Given the description of an element on the screen output the (x, y) to click on. 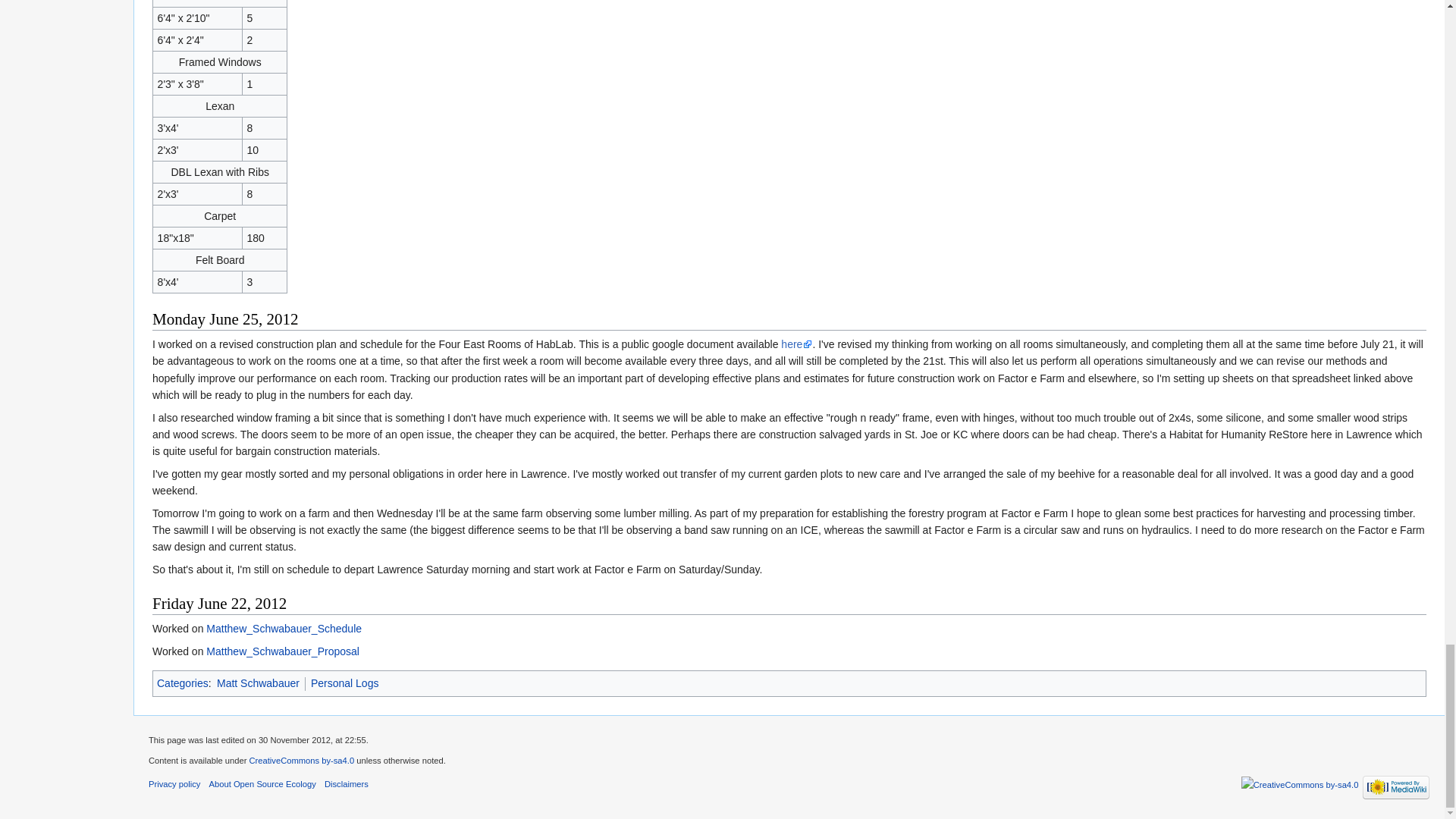
Special:Categories (182, 683)
Category:Matt Schwabauer (257, 683)
Matthew Schwabauer Proposal (282, 651)
Matthew Schwabauer Schedule (283, 628)
Category:Personal Logs (344, 683)
